Given the description of an element on the screen output the (x, y) to click on. 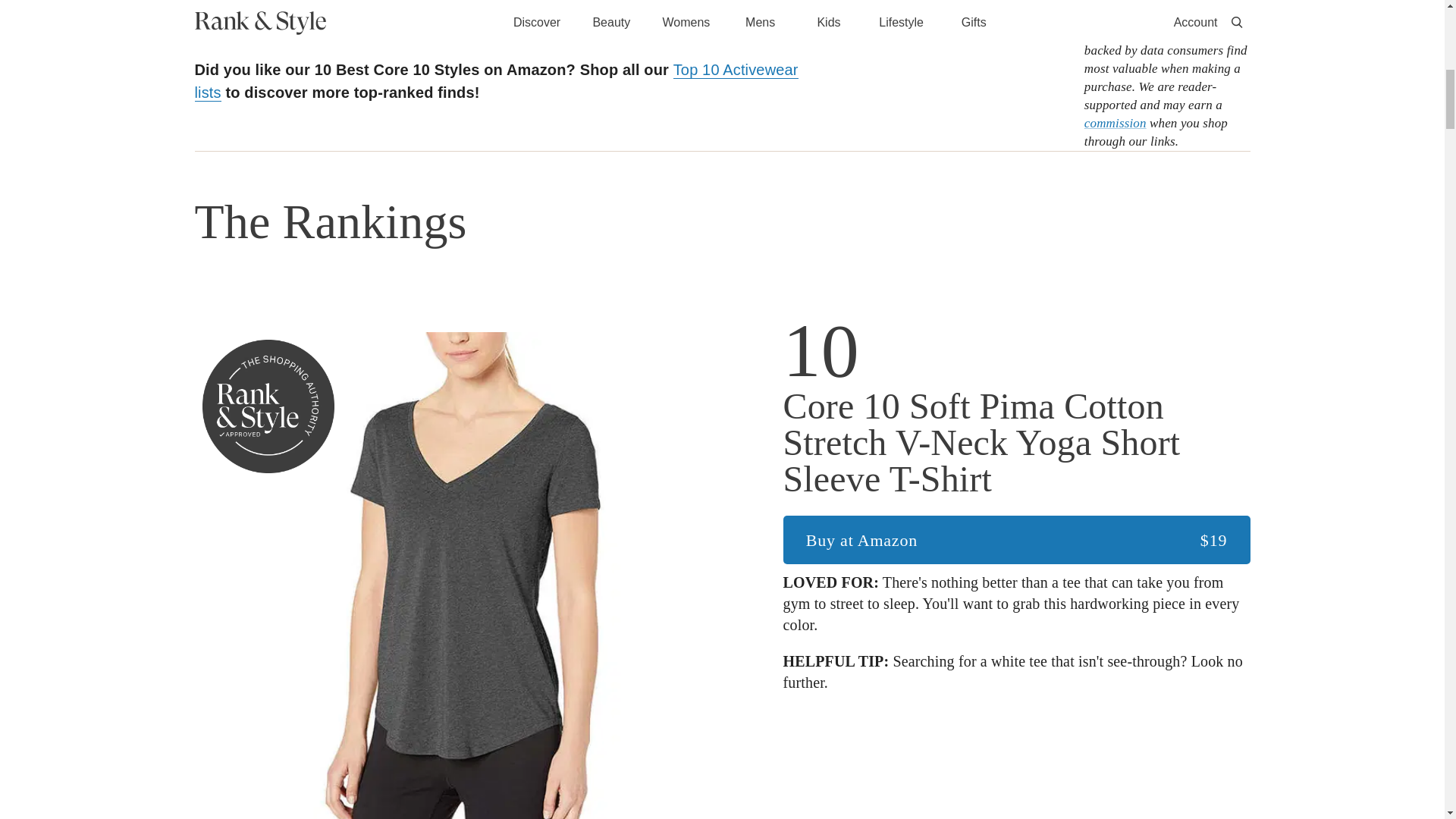
algorithm (1220, 32)
commission (1115, 123)
Top 10 Activewear lists (495, 81)
amazon.com (237, 31)
